Given the description of an element on the screen output the (x, y) to click on. 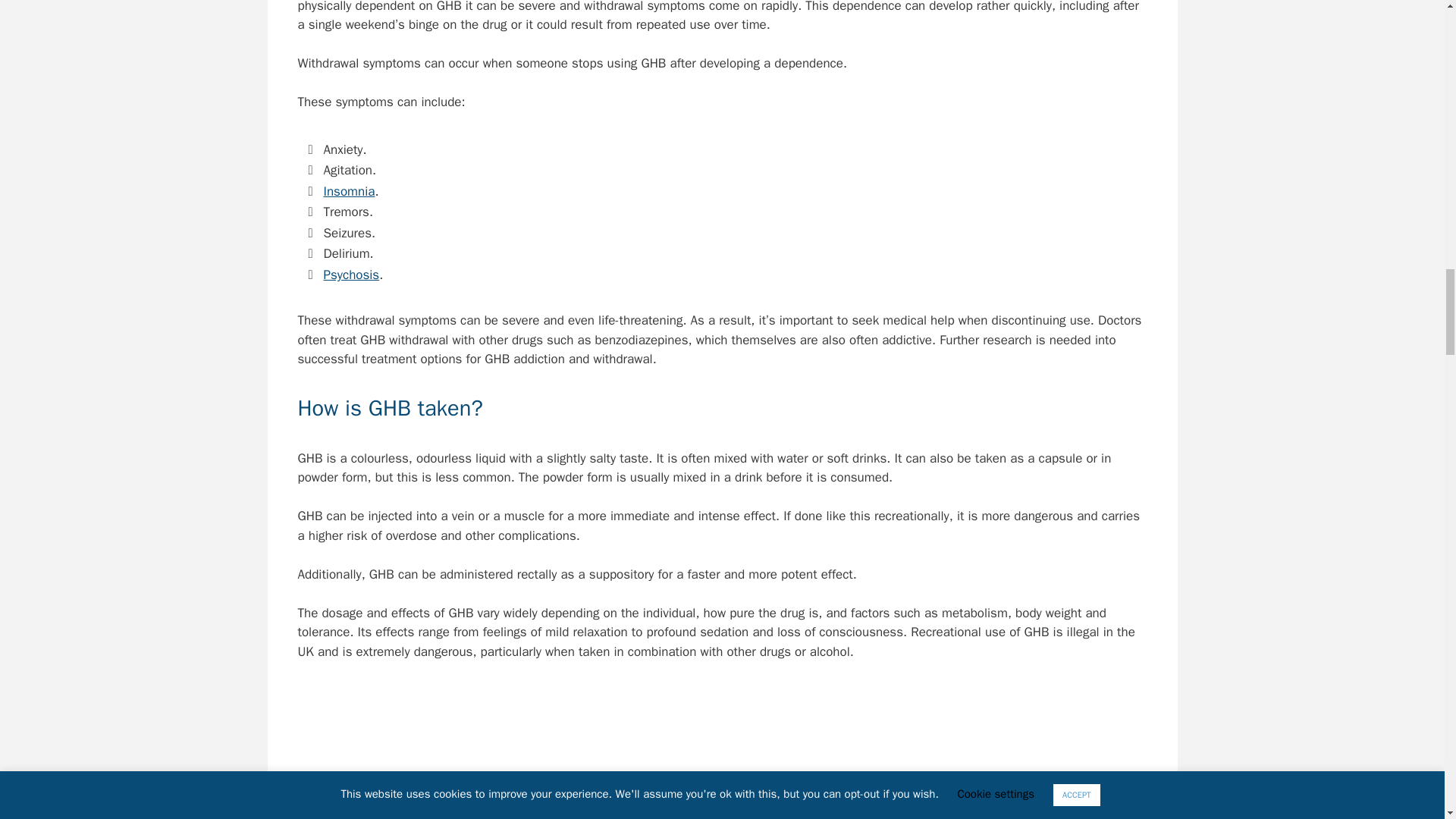
Psychosis (350, 274)
Taking GHB through needle (722, 753)
Insomnia (348, 191)
